Given the description of an element on the screen output the (x, y) to click on. 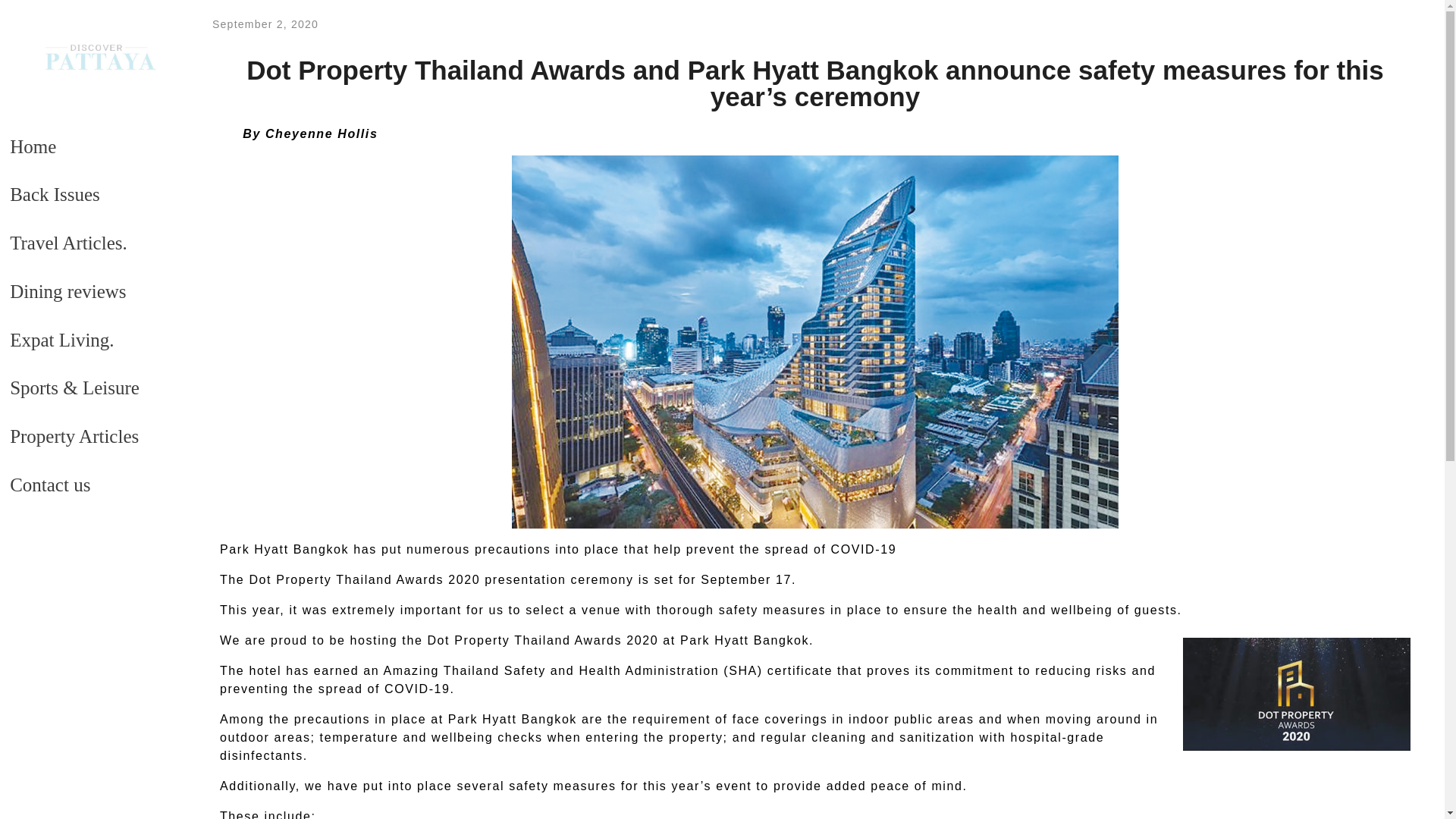
Contact us (93, 406)
Pattaya Trader (99, 79)
Property Articles (93, 336)
Dining reviews (93, 59)
Expat Living. (93, 155)
